Given the description of an element on the screen output the (x, y) to click on. 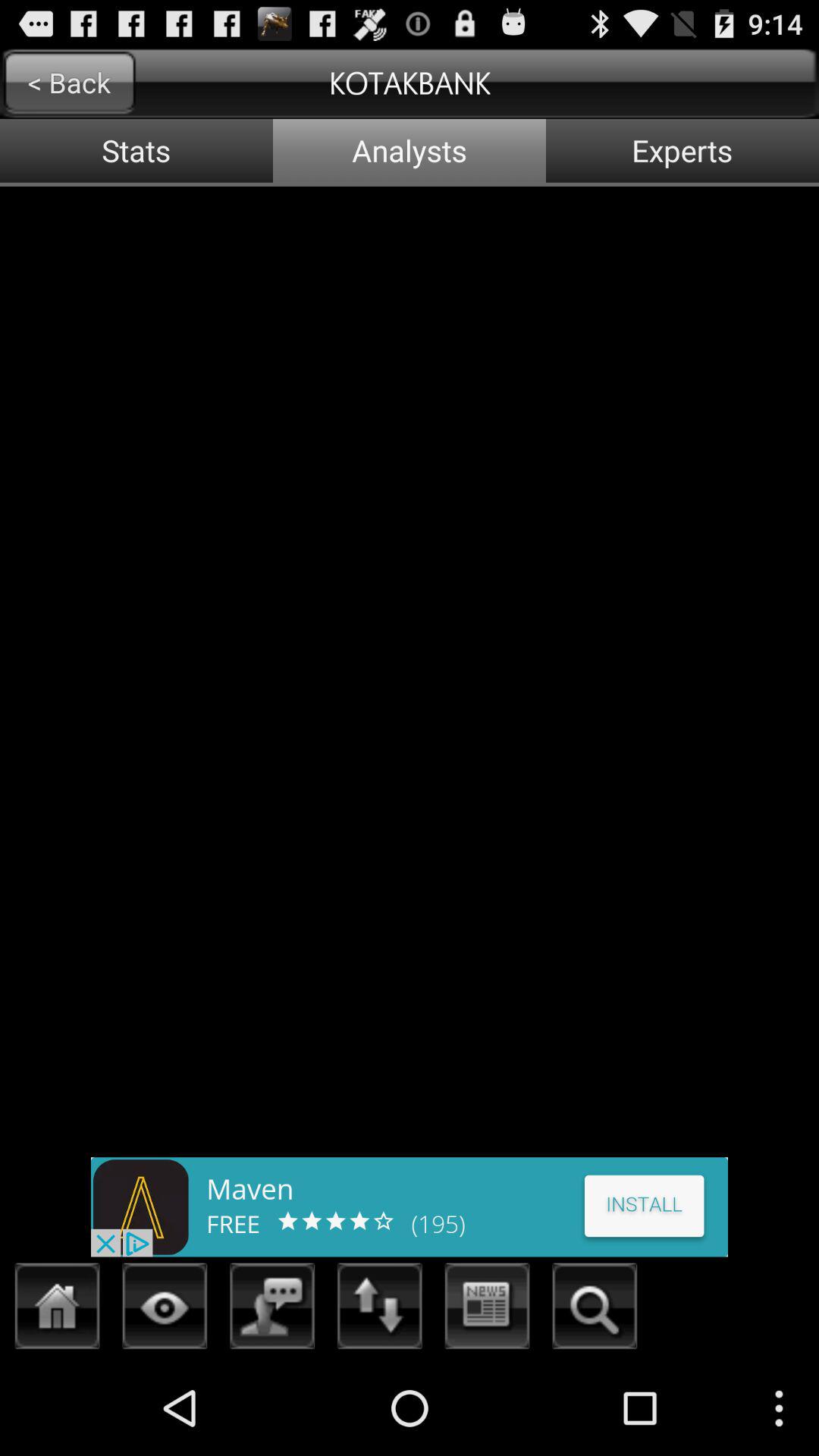
eye (164, 1310)
